Given the description of an element on the screen output the (x, y) to click on. 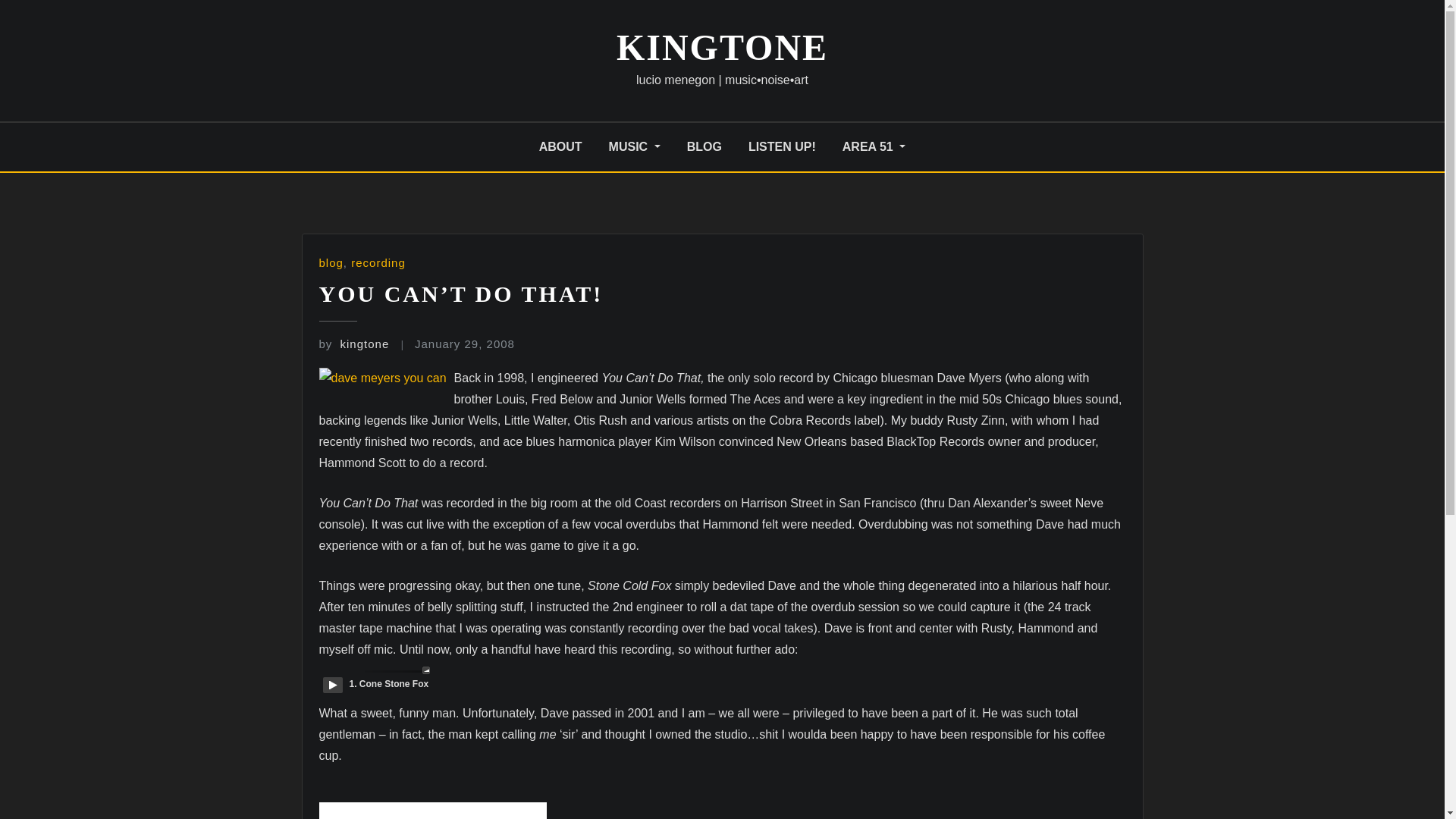
KINGTONE (721, 47)
ABOUT (560, 147)
MUSIC (634, 147)
by kingtone (353, 343)
January 29, 2008 (464, 343)
blog (330, 262)
recording (378, 262)
BLOG (704, 147)
LISTEN UP! (781, 147)
AREA 51 (874, 147)
